Given the description of an element on the screen output the (x, y) to click on. 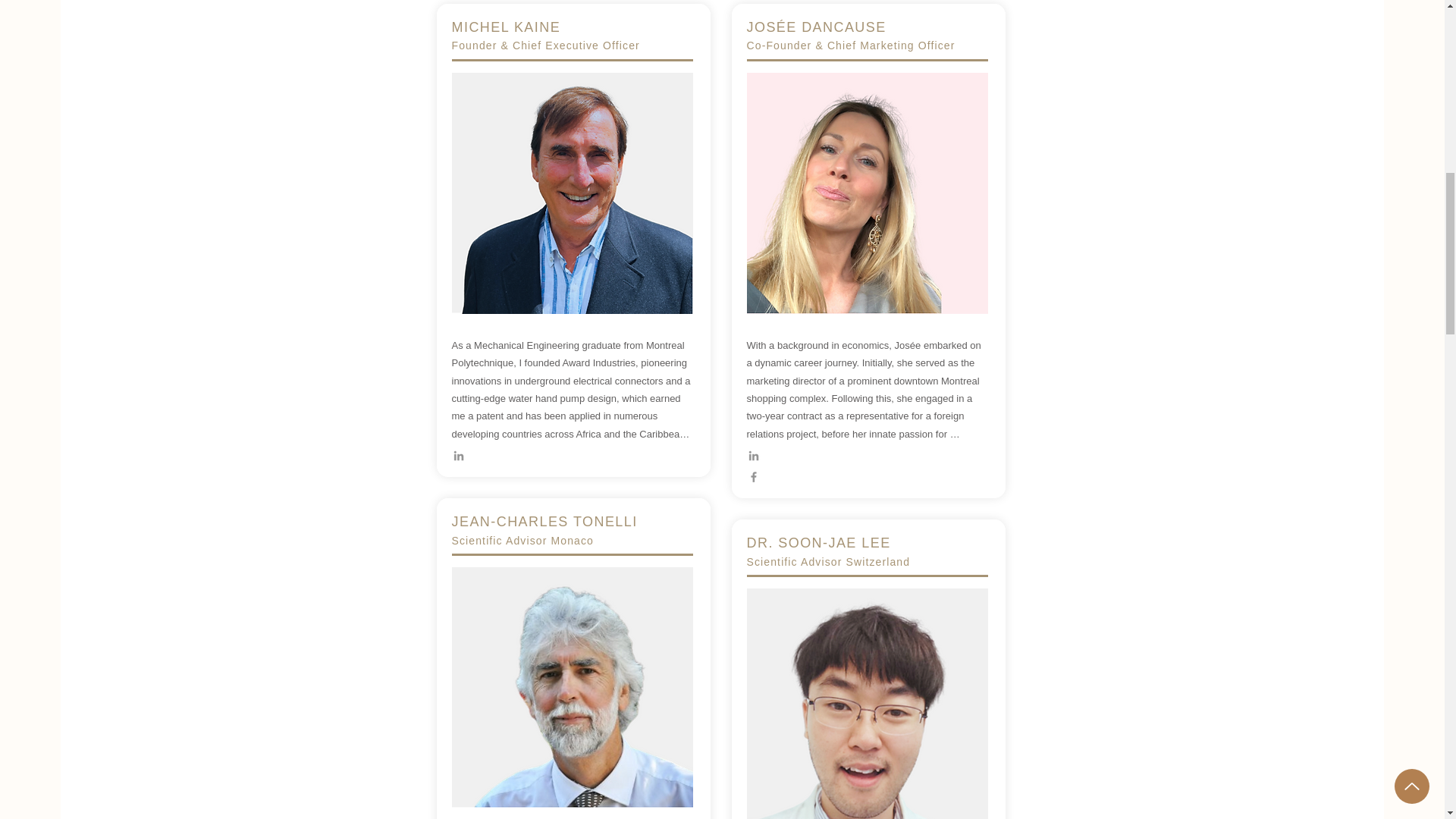
Josee Dancause (866, 192)
Dr. Soon-Jae Lee (572, 687)
Michel Kaine (572, 192)
Dr. Soon-Jae Lee (866, 703)
